Given the description of an element on the screen output the (x, y) to click on. 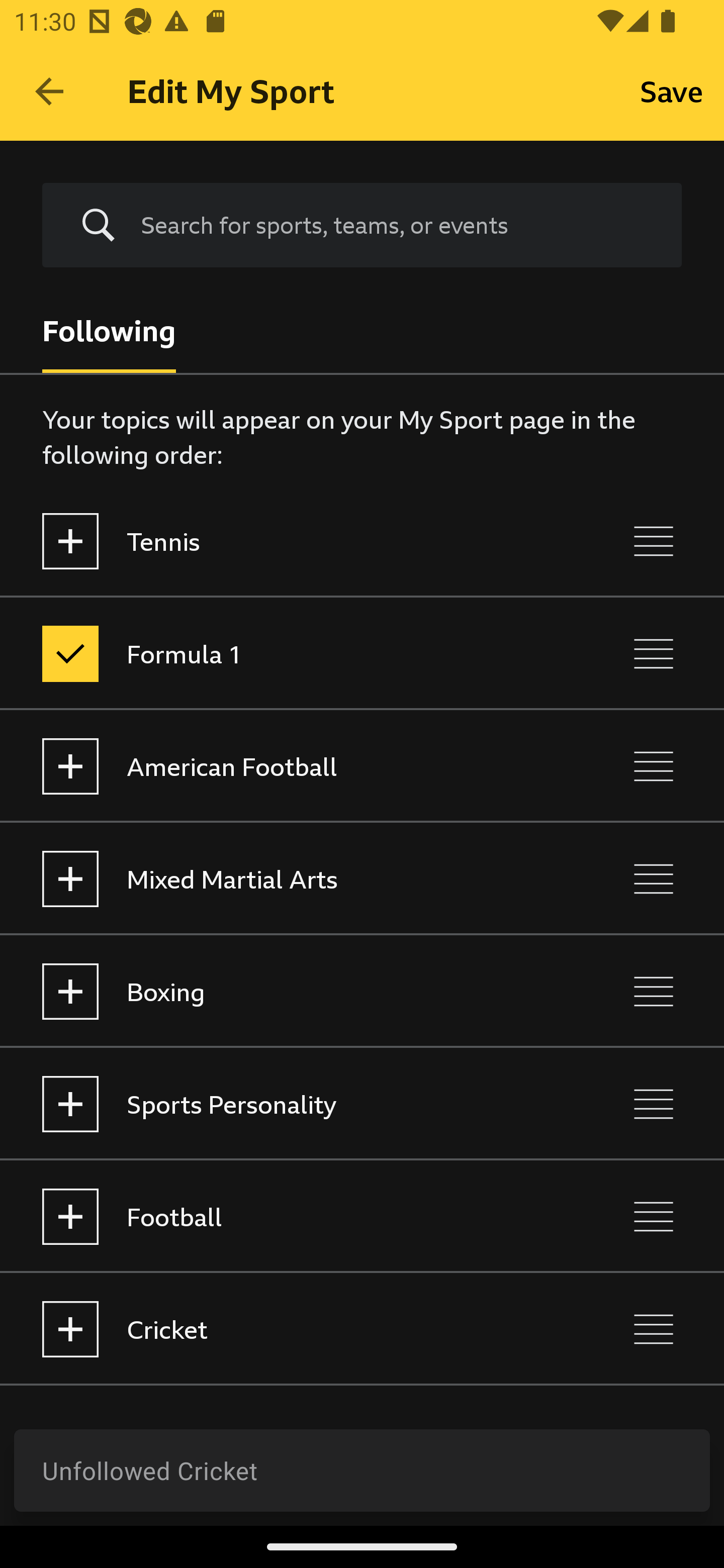
Navigate up (49, 91)
Save (671, 90)
Search for sports, teams, or events (361, 225)
Search for sports, teams, or events (396, 224)
Tennis (277, 540)
Reorder Tennis (653, 540)
Formula 1 (277, 653)
Reorder Formula 1 (653, 653)
American Football (277, 766)
Reorder American Football (653, 766)
Mixed Martial Arts (277, 878)
Reorder Mixed Martial Arts (653, 878)
Boxing (277, 990)
Reorder Boxing (653, 990)
Sports Personality (277, 1103)
Reorder Sports Personality (653, 1103)
Football (277, 1216)
Reorder Football (653, 1216)
Cricket (277, 1329)
Reorder Cricket (653, 1329)
